Given the description of an element on the screen output the (x, y) to click on. 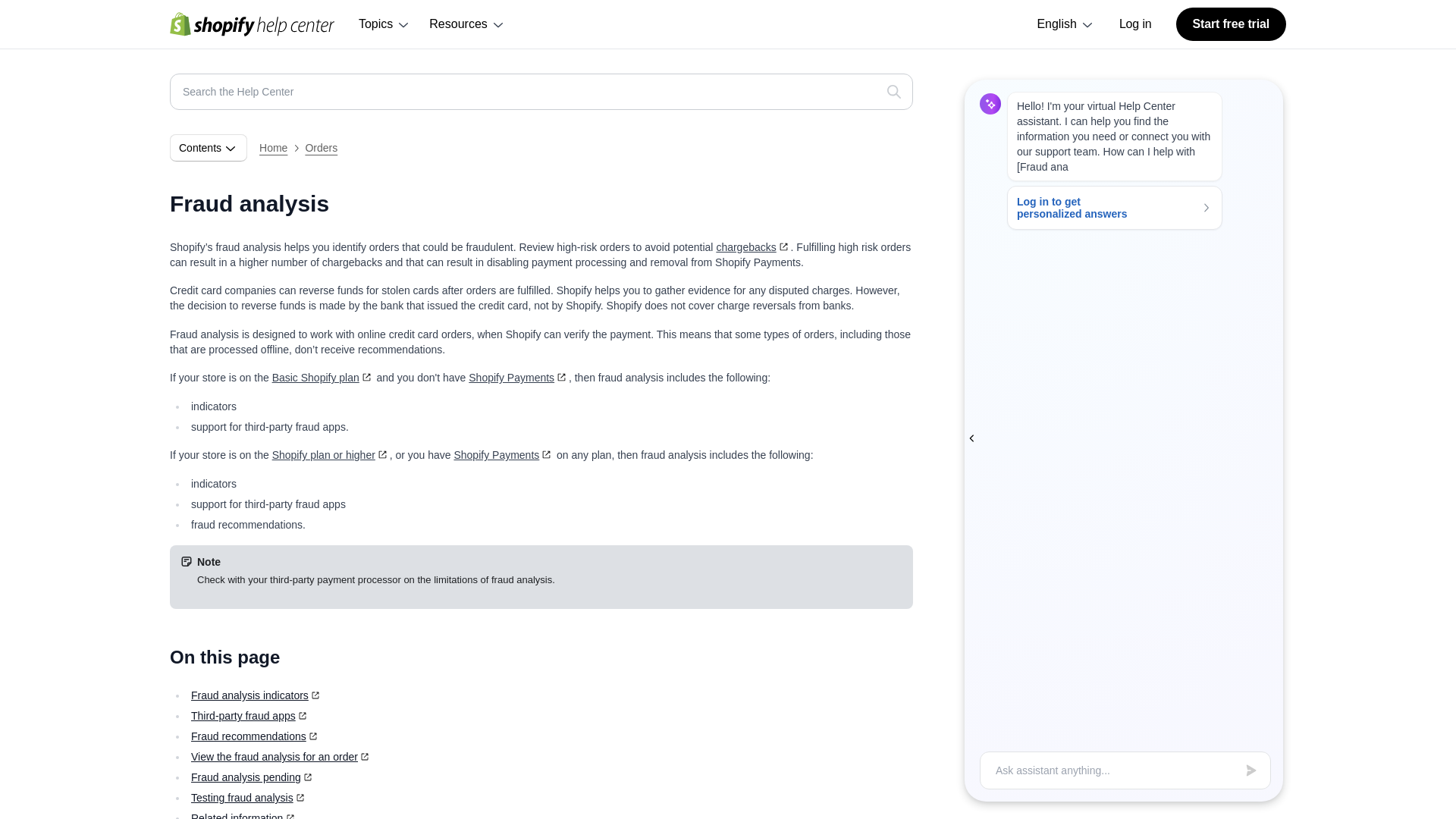
Shopify Payments (518, 377)
chargebacks (753, 246)
Start free trial (1230, 23)
Third-party fraud apps (250, 715)
Fraud analysis pending (252, 776)
Testing fraud analysis (248, 797)
Fraud recommendations (255, 736)
Shopify plan or higher (331, 454)
Related information (243, 815)
English (1065, 24)
